Given the description of an element on the screen output the (x, y) to click on. 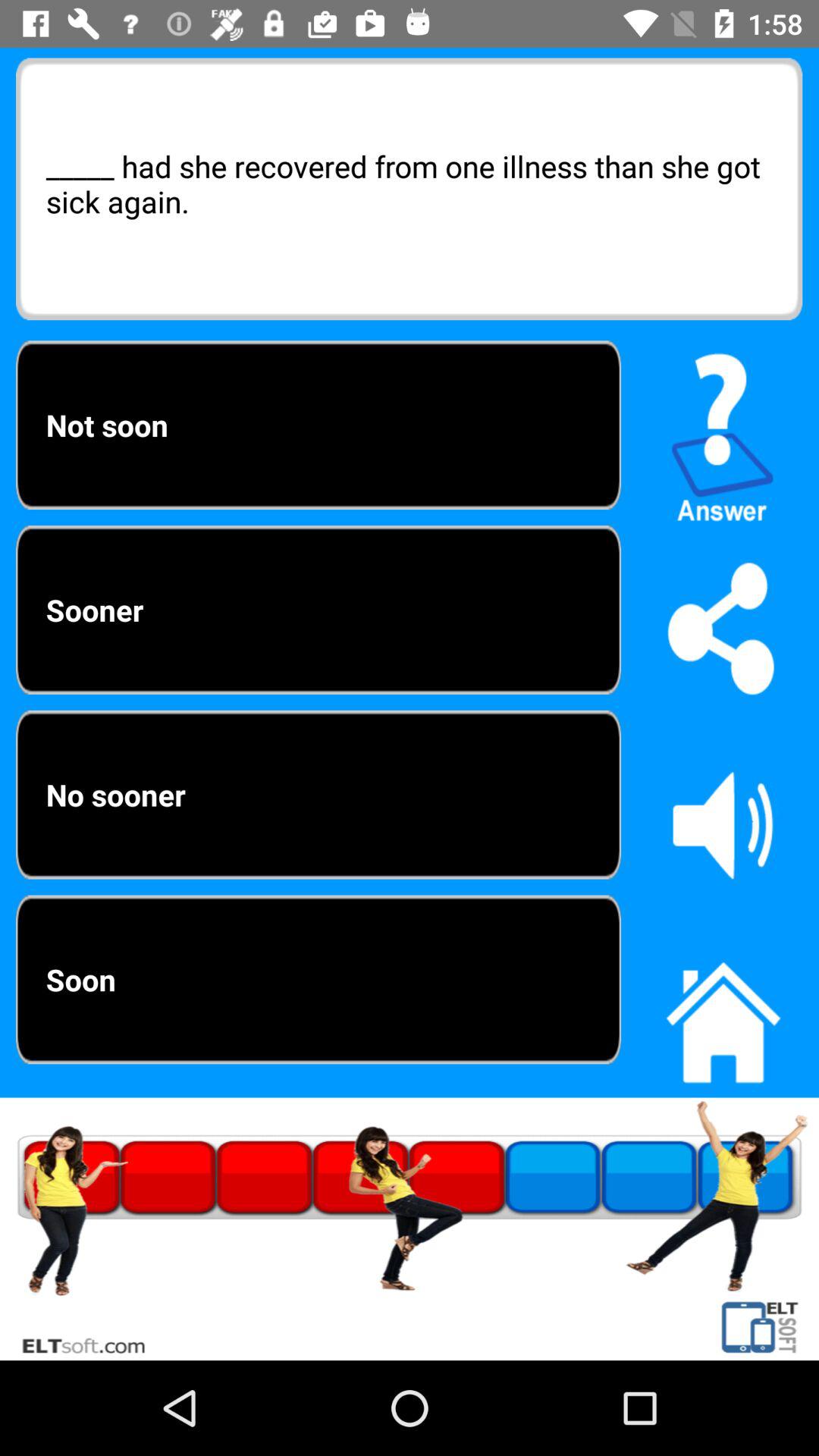
volume control (723, 824)
